Given the description of an element on the screen output the (x, y) to click on. 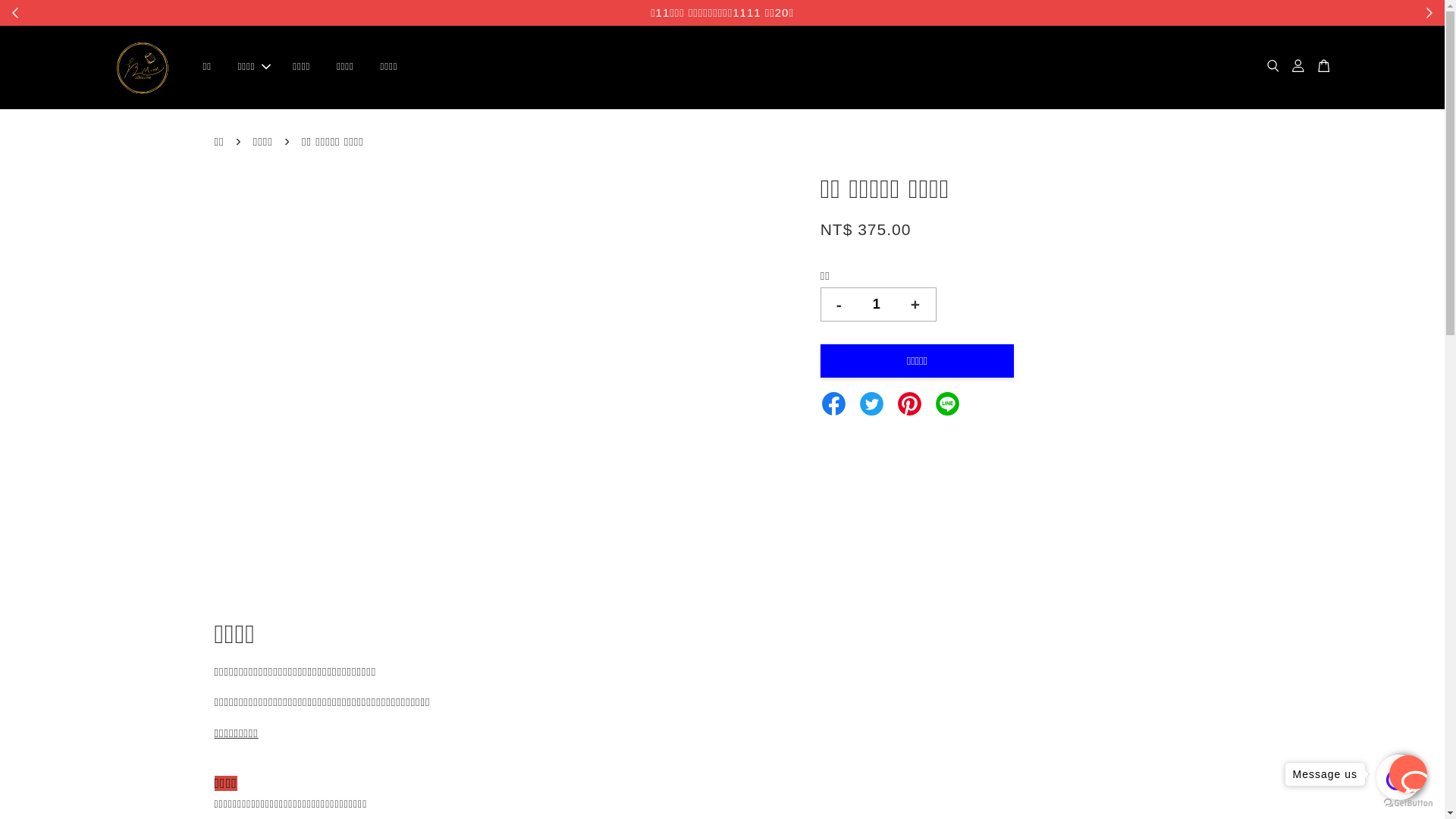
LINE Element type: text (947, 401)
Pinterest Element type: text (909, 401)
Facebook Element type: text (833, 401)
Twitter Element type: text (871, 401)
